Given the description of an element on the screen output the (x, y) to click on. 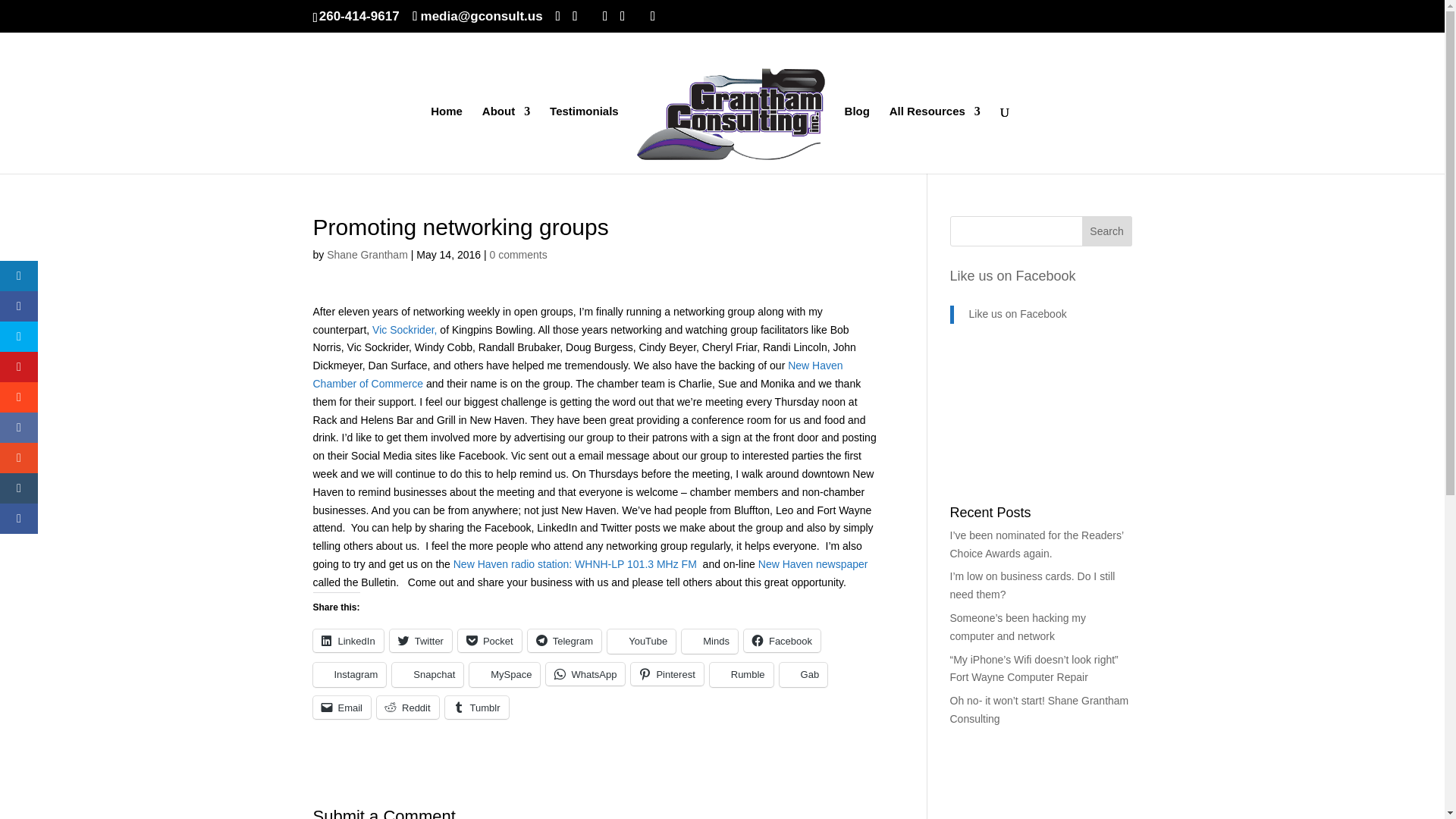
Click to share on Pinterest (666, 673)
Click to share on Minds (709, 641)
Click to share on Snapchat (427, 674)
Click to share on Instagram (349, 674)
Click to share on WhatsApp (585, 673)
Click to share on Gab (803, 674)
Click to share on MySpace (504, 674)
Click to email a link to a friend (342, 707)
Search (1106, 231)
Posts by Shane Grantham (366, 254)
Click to share on Twitter (420, 640)
Click to share on Rumble (741, 674)
Click to share on Pocket (489, 640)
Testimonials (584, 139)
Click to share on YouTube (641, 641)
